Given the description of an element on the screen output the (x, y) to click on. 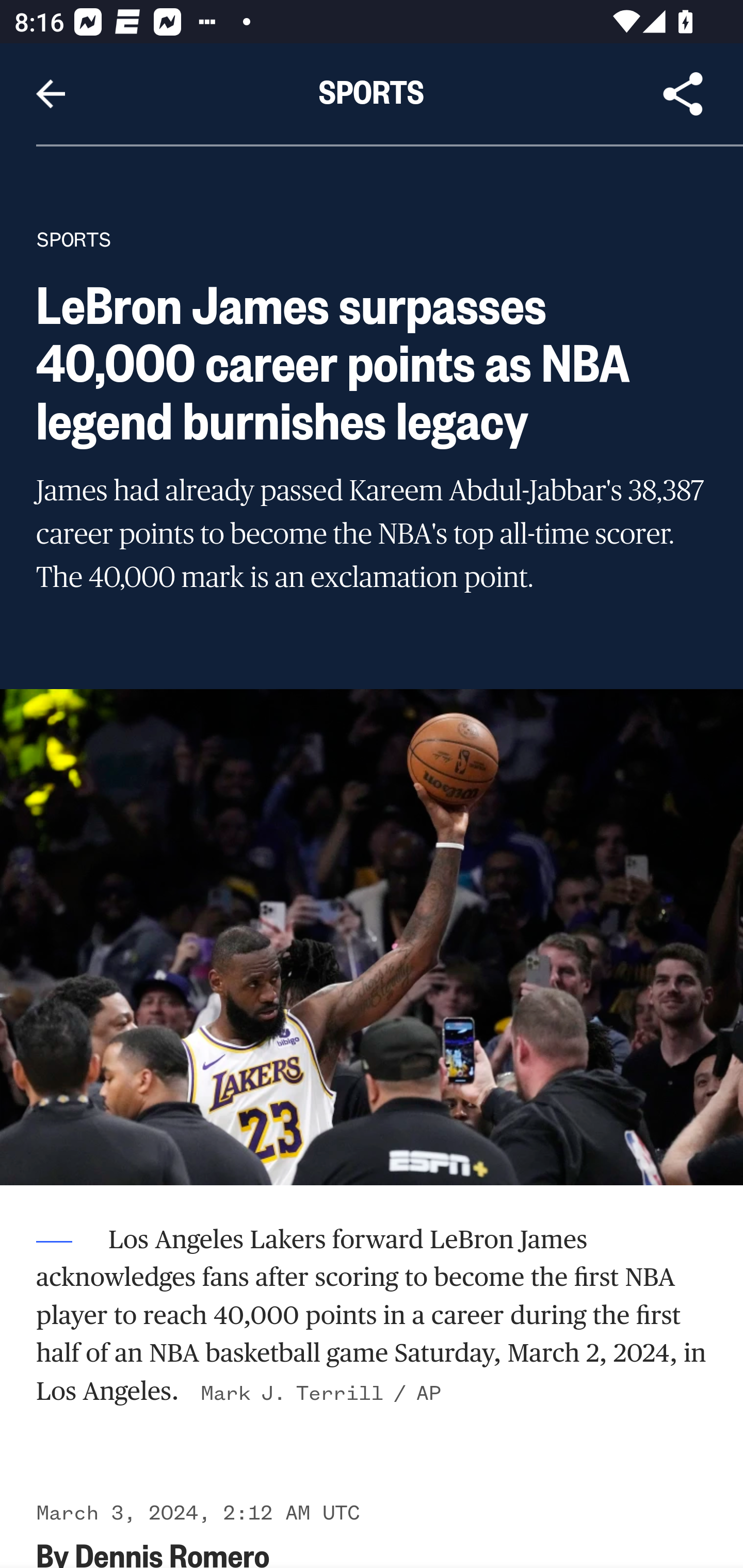
Navigate up (50, 93)
Share Article, button (683, 94)
SPORTS (74, 239)
